Given the description of an element on the screen output the (x, y) to click on. 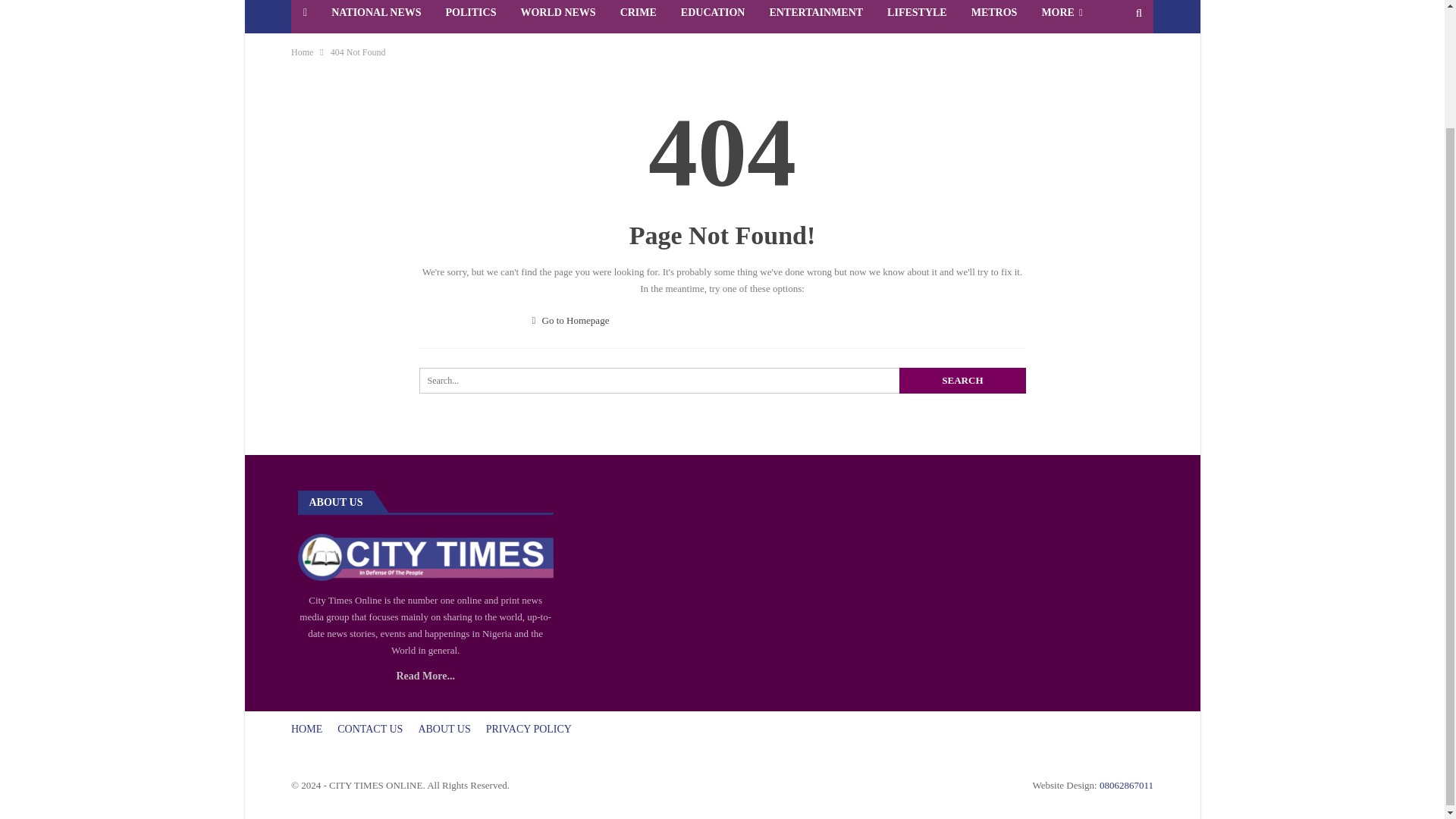
Go to Homepage (571, 319)
EDUCATION (712, 16)
MORE (1061, 16)
HOME (306, 728)
Home (302, 52)
Read More... (425, 675)
ENTERTAINMENT (816, 16)
PRIVACY POLICY (529, 728)
Search (962, 380)
08062867011 (1126, 785)
